Given the description of an element on the screen output the (x, y) to click on. 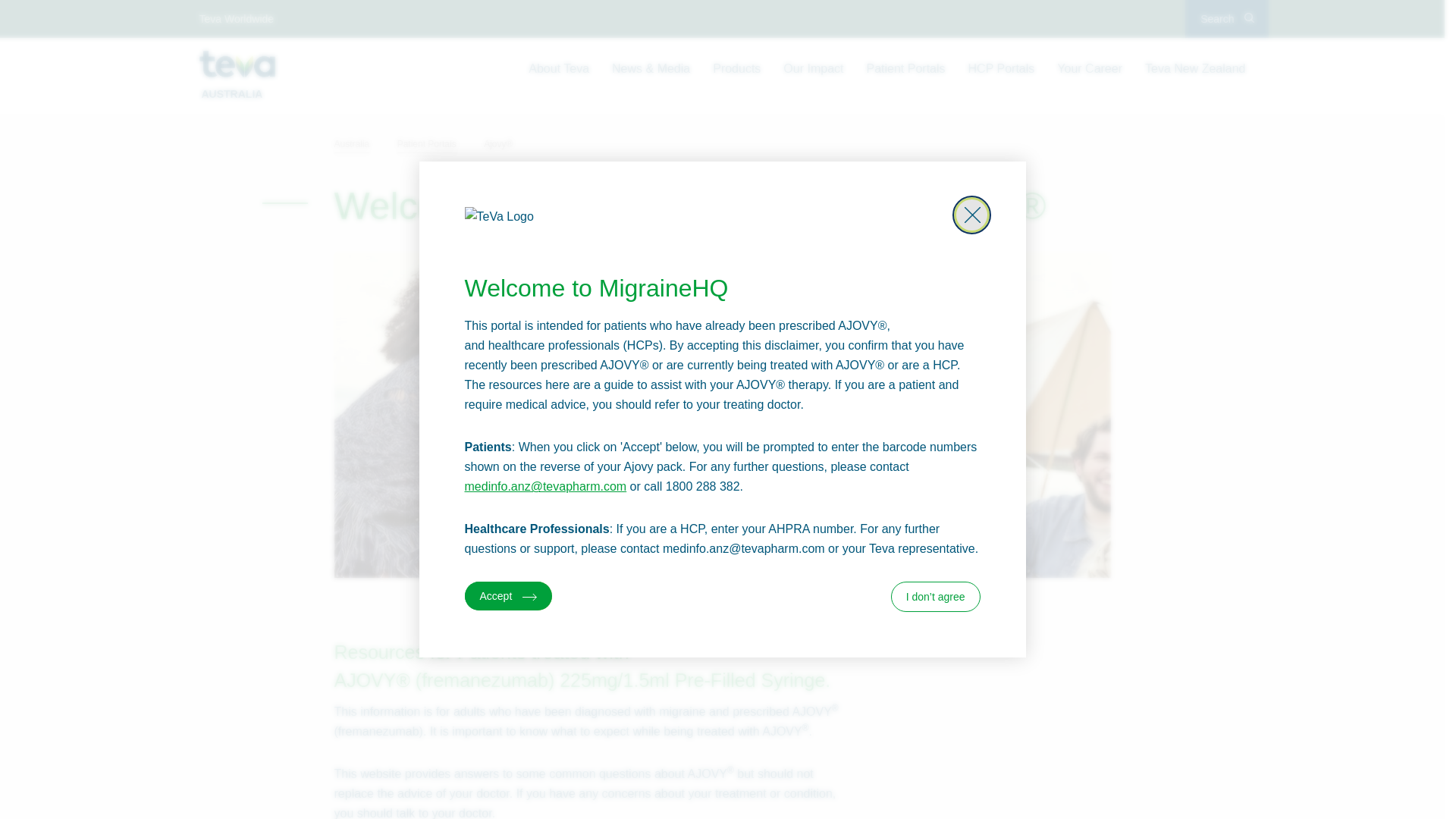
Products Element type: text (736, 69)
Skip to main content Element type: text (14, 7)
Teva New Zealand Element type: text (1195, 69)
Teva Australia Element type: hover (236, 63)
Teva Worldwide Element type: text (236, 18)
Our Impact Element type: text (812, 69)
Patient Portals Element type: text (438, 143)
HCP Portals Element type: text (1001, 69)
medinfo.anz@tevapharm.com Element type: text (545, 486)
About Teva Element type: text (558, 69)
Search Element type: text (1226, 18)
Accept Element type: text (508, 595)
Australia Element type: text (363, 143)
AUSTRALIA Element type: text (236, 73)
Close Element type: text (971, 214)
Patient Portals Element type: text (906, 69)
Your Career Element type: text (1089, 69)
News & Media Element type: text (650, 69)
